Given the description of an element on the screen output the (x, y) to click on. 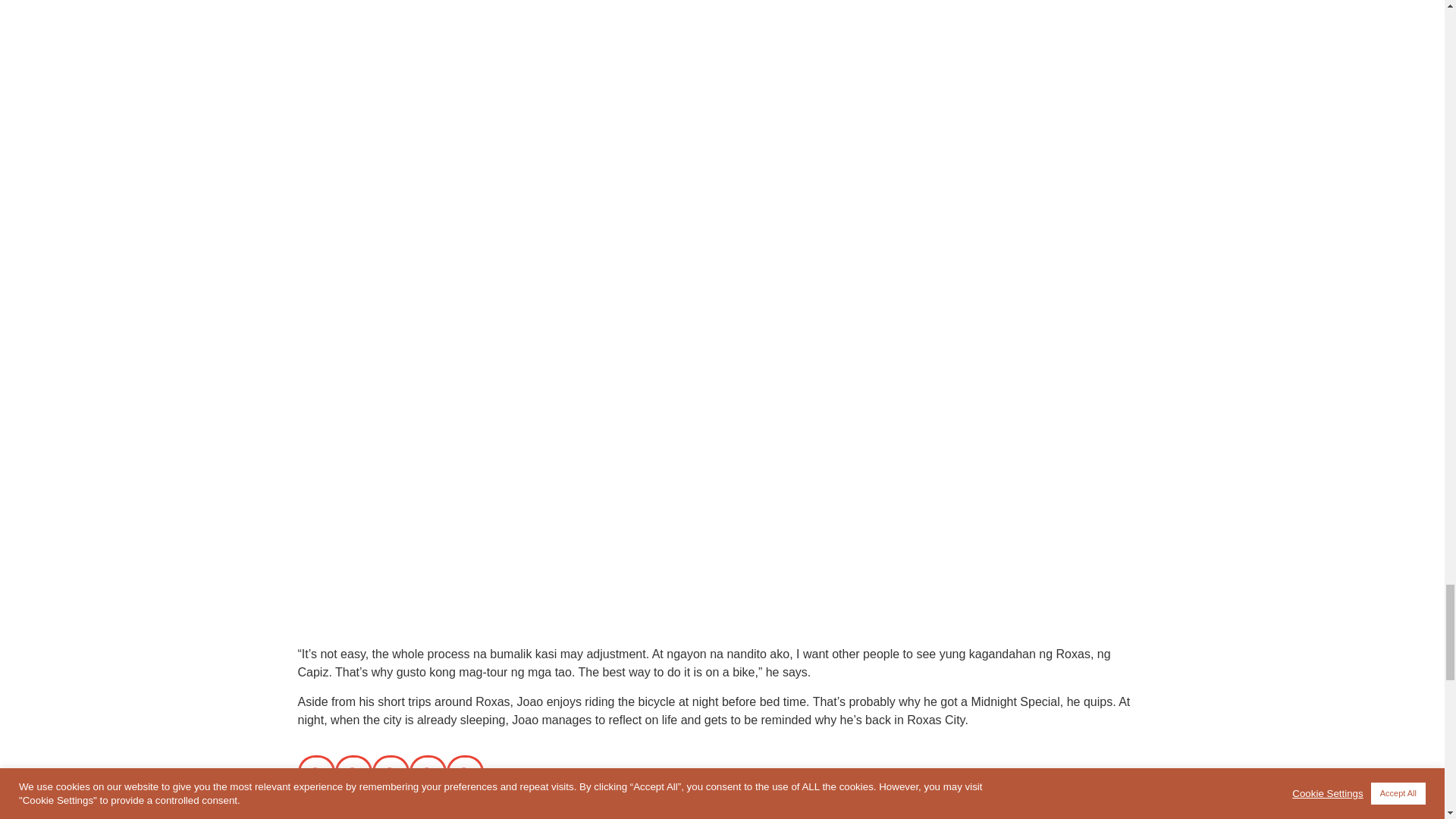
PREVIOUS (509, 811)
NEXT (934, 811)
